Given the description of an element on the screen output the (x, y) to click on. 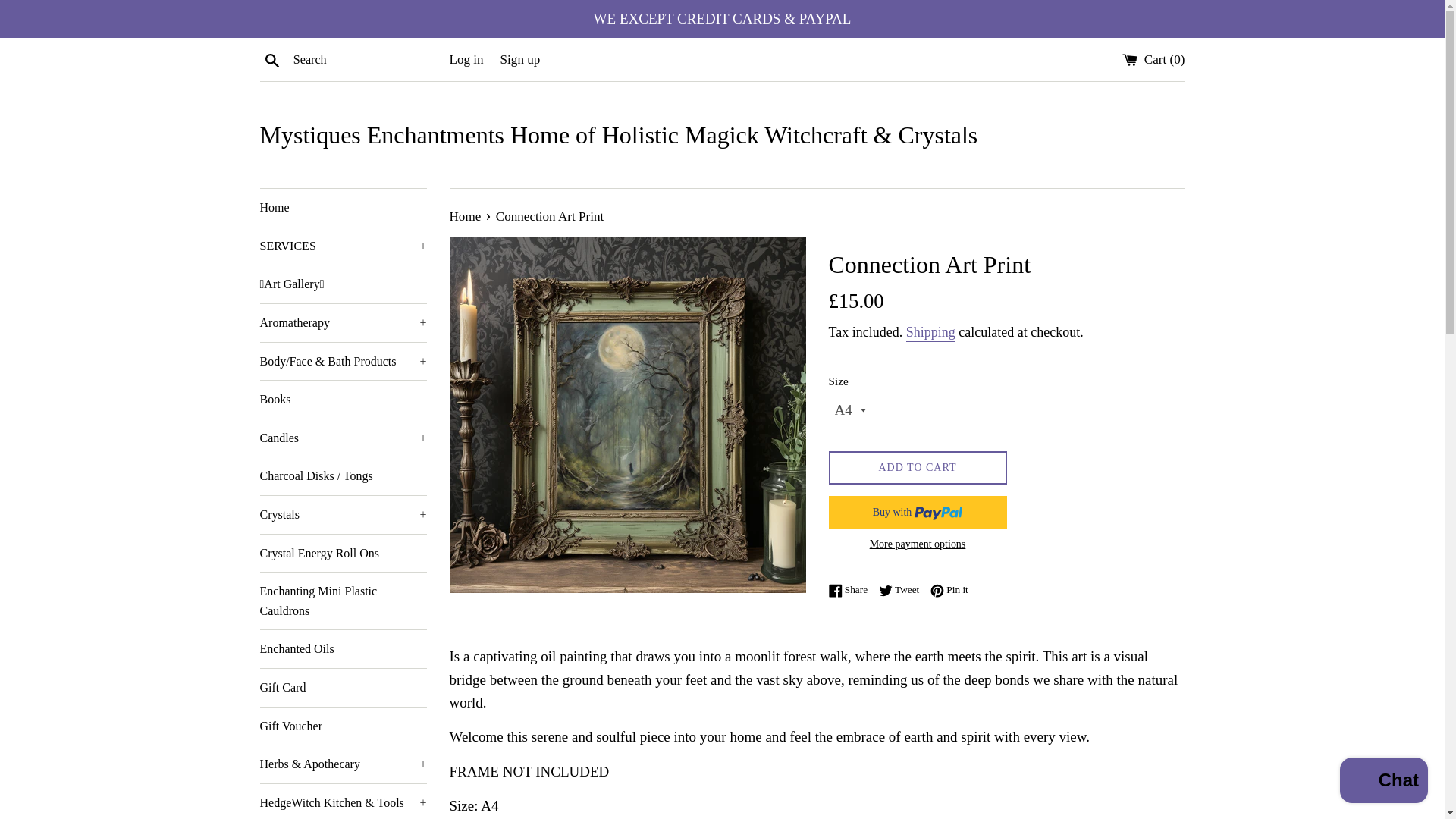
Log in (465, 59)
Shopify online store chat (1383, 781)
Share on Facebook (851, 589)
Pin on Pinterest (949, 589)
Tweet on Twitter (902, 589)
Back to the frontpage (465, 216)
Home (342, 207)
Search (271, 58)
Sign up (520, 59)
